Given the description of an element on the screen output the (x, y) to click on. 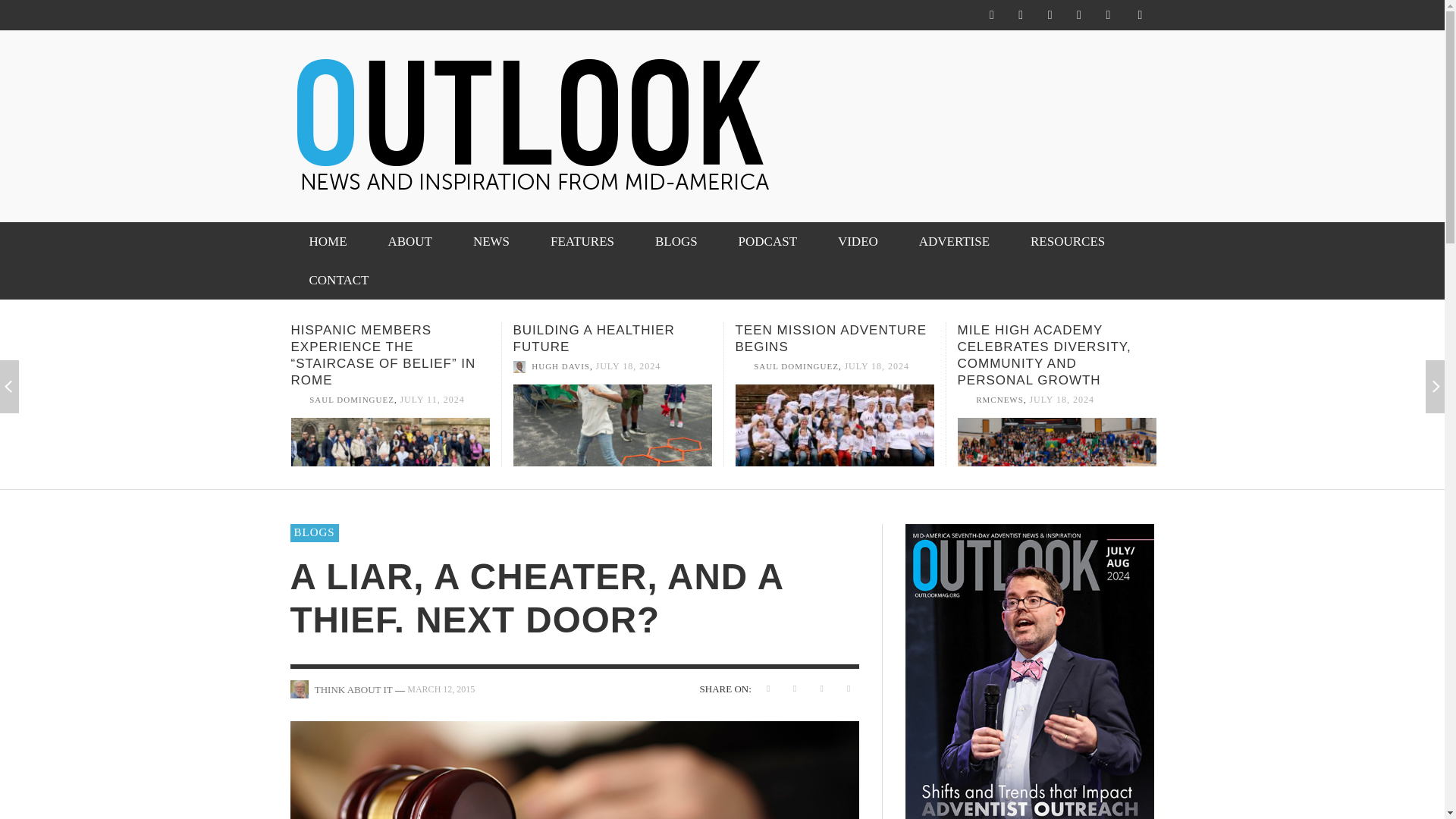
Youtube (1107, 15)
ABOUT (409, 241)
Vimeo (1078, 15)
Facebook (991, 15)
Twitter (1049, 15)
NEWS (491, 241)
HOME (327, 241)
Instagram (1020, 15)
